Given the description of an element on the screen output the (x, y) to click on. 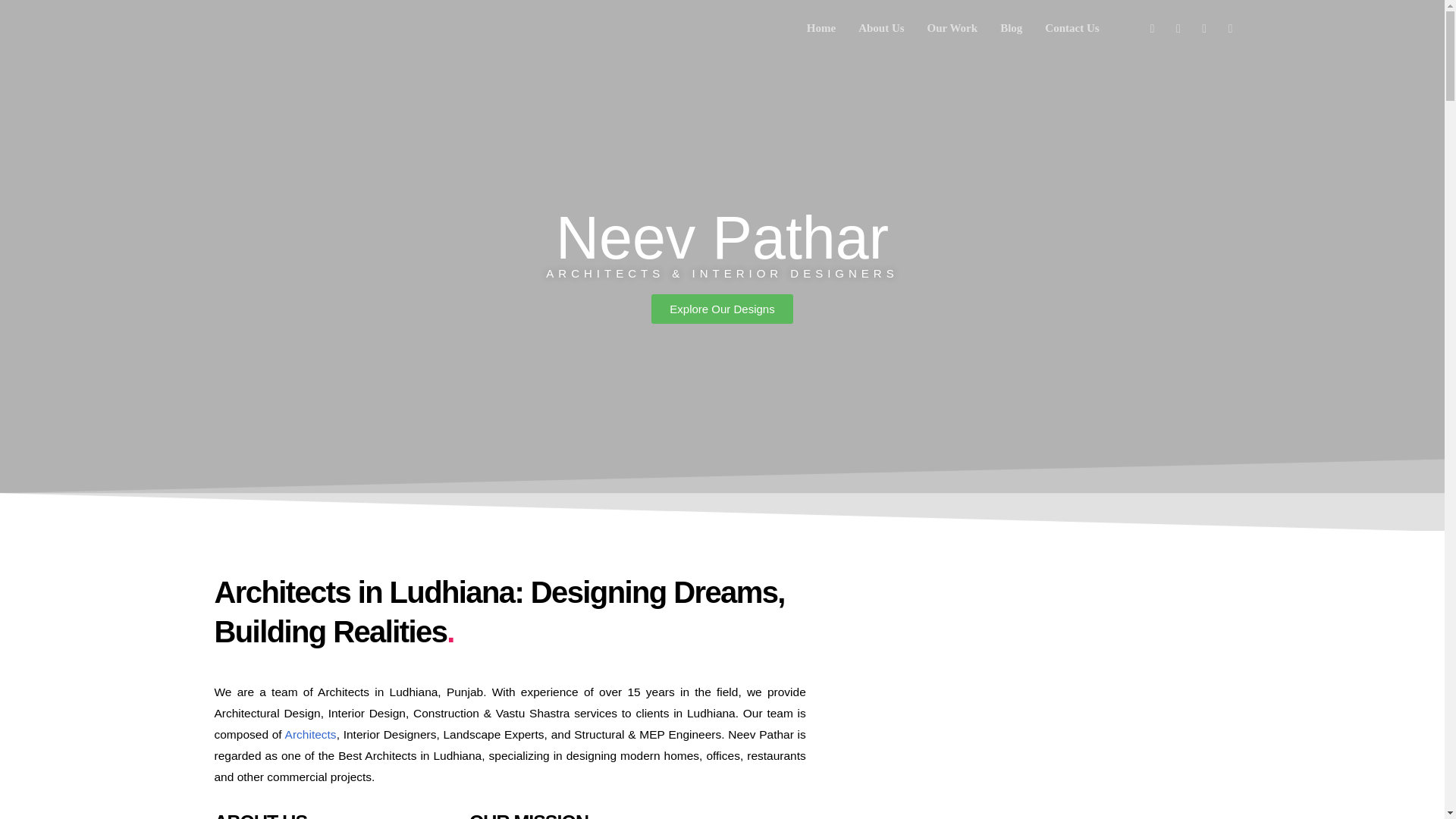
Explore Our Designs (721, 308)
Architects (310, 734)
About Us (881, 28)
Our Work (952, 28)
Contact Us (1071, 28)
Home (820, 28)
